Given the description of an element on the screen output the (x, y) to click on. 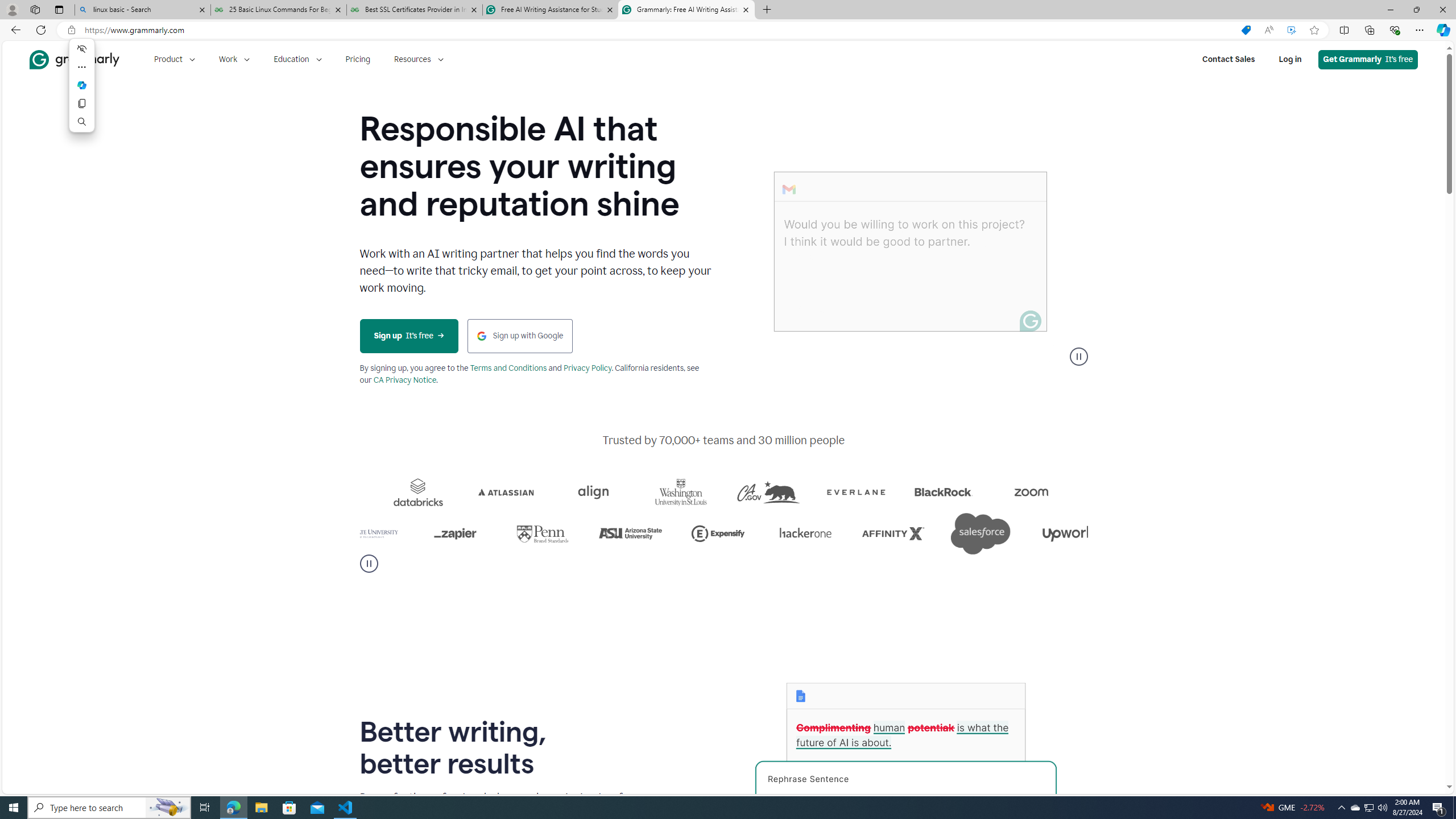
Work (234, 58)
Sign up with Google (520, 335)
CA.gov (903, 491)
Pause animation (1077, 356)
Salesforce (1115, 533)
University of Pennsylvania (668, 533)
Mini menu on text selection (81, 91)
Log in (1289, 58)
